Given the description of an element on the screen output the (x, y) to click on. 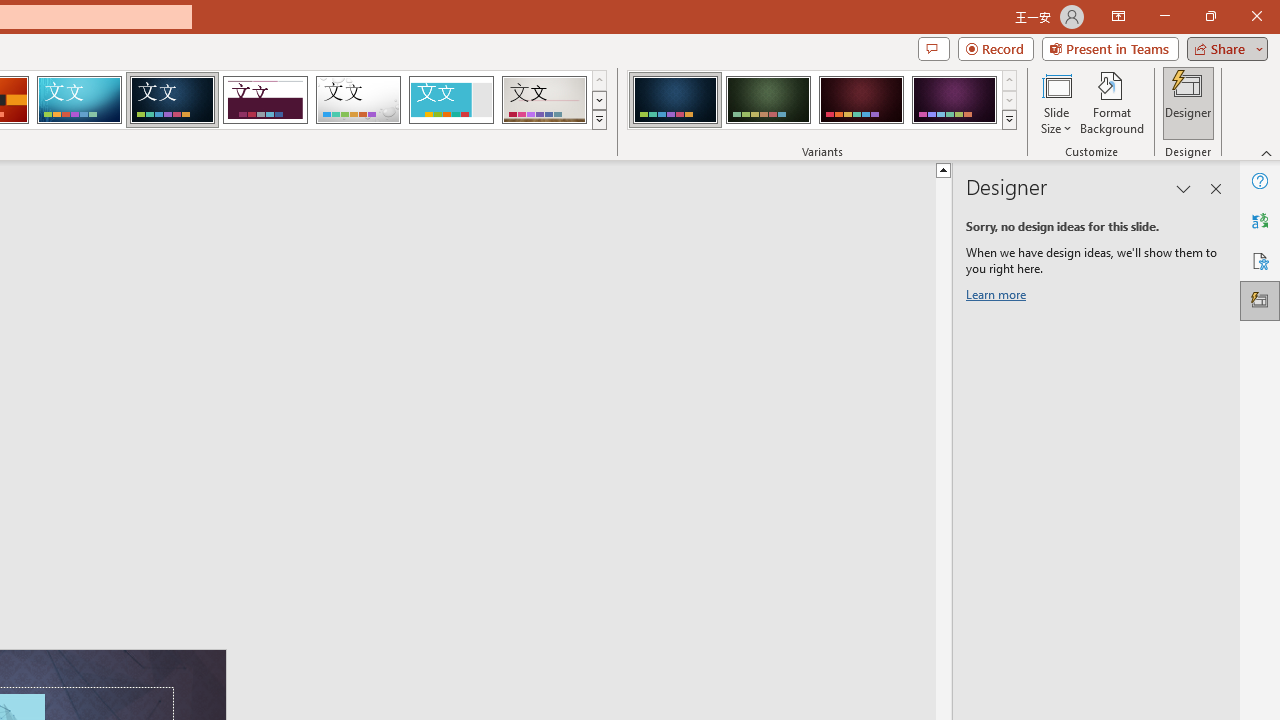
Variants (1009, 120)
Frame (450, 100)
Slide Size (1056, 102)
